Given the description of an element on the screen output the (x, y) to click on. 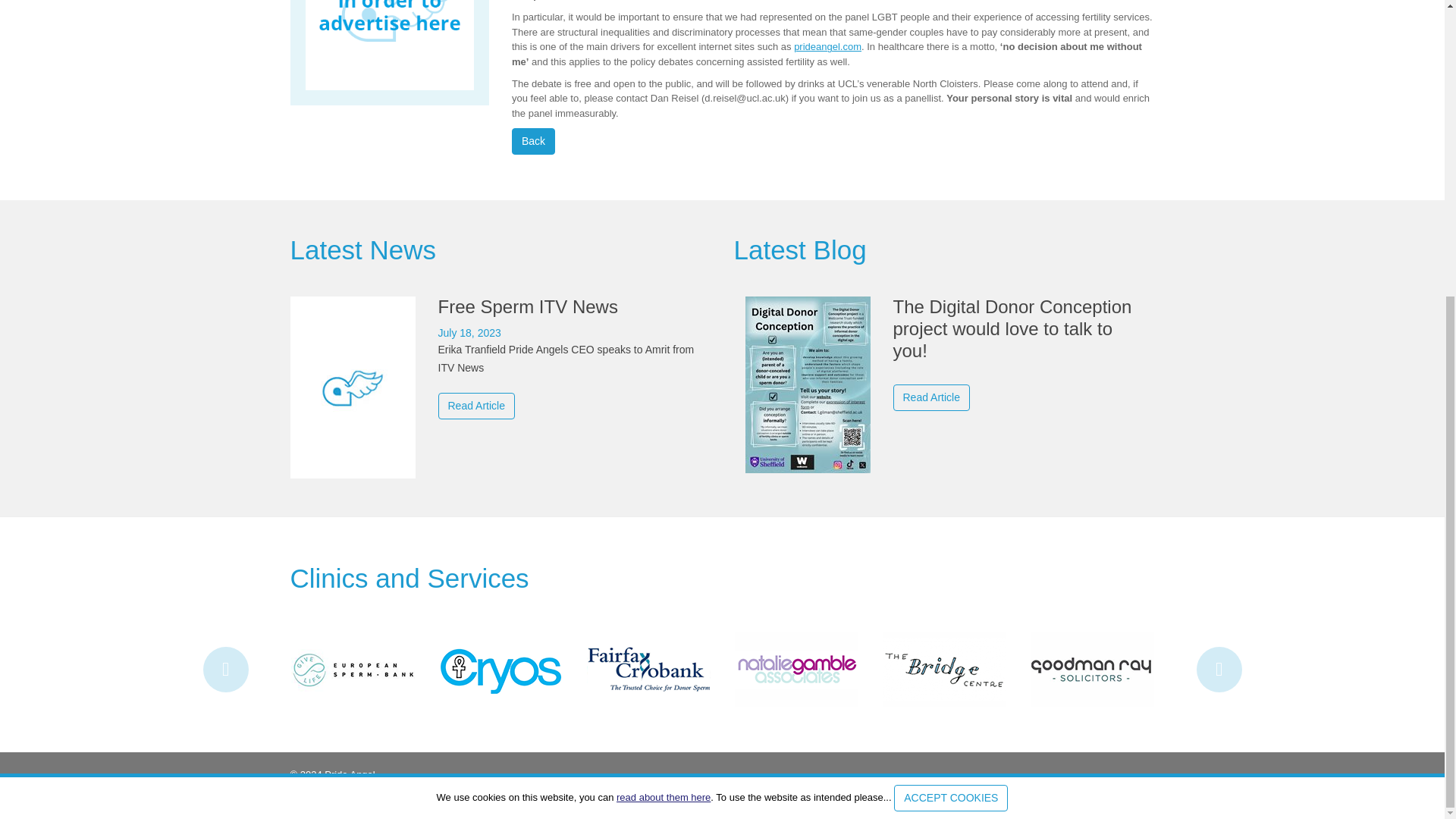
Free Sperm ITV News (499, 357)
Advertise with Pride Angel (389, 45)
View all (799, 249)
Fairfax Cryobank (648, 668)
European Sperm Bank (352, 668)
View all (362, 249)
Natalie Gamble Associates (795, 668)
Goodman Ray Solicitors (1091, 668)
Cryos Denmark (500, 668)
